Given the description of an element on the screen output the (x, y) to click on. 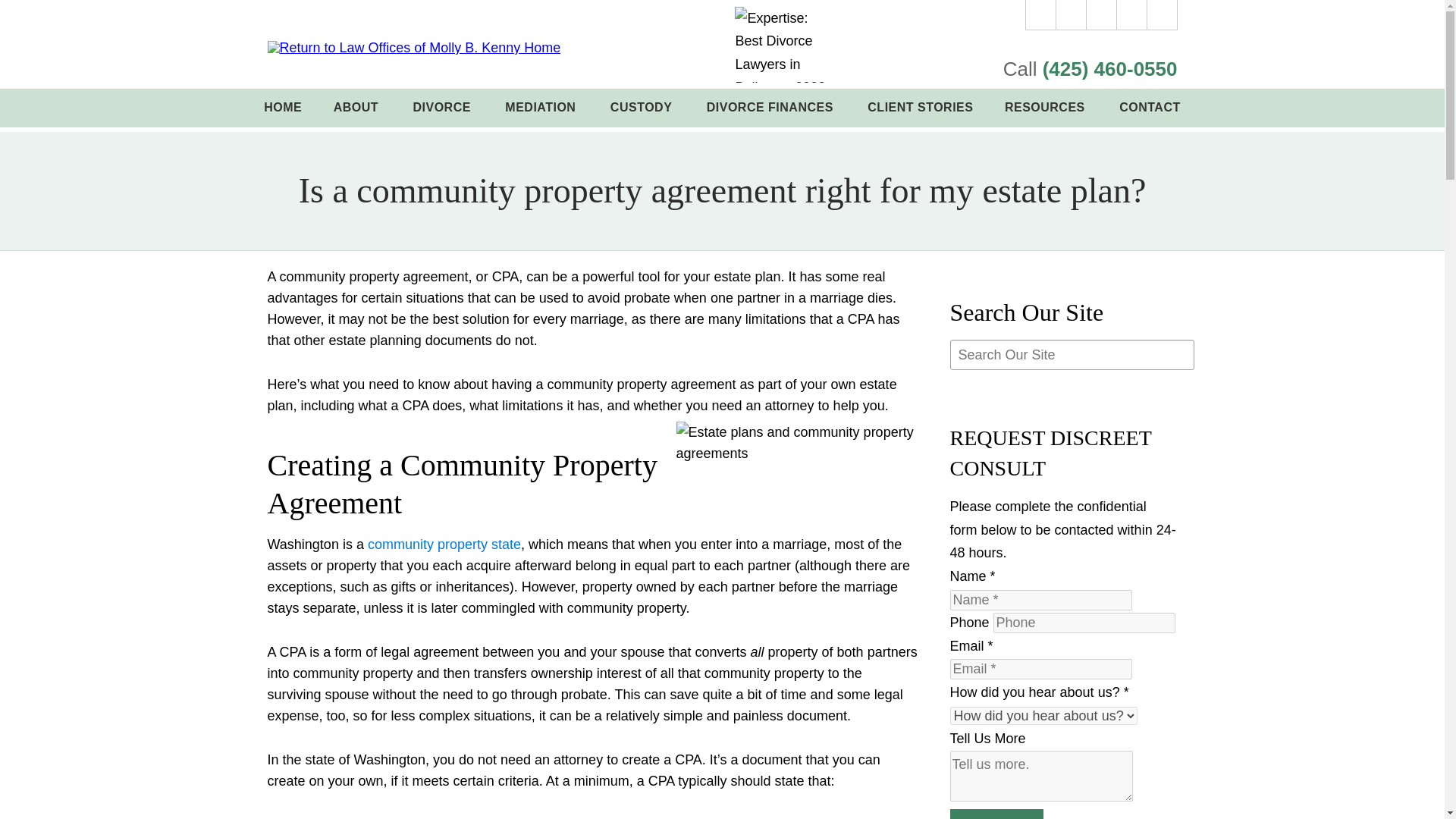
Search (1161, 15)
CUSTODY (642, 107)
ABOUT (357, 107)
DIVORCE (443, 107)
HOME (282, 107)
MEDIATION (542, 107)
